Given the description of an element on the screen output the (x, y) to click on. 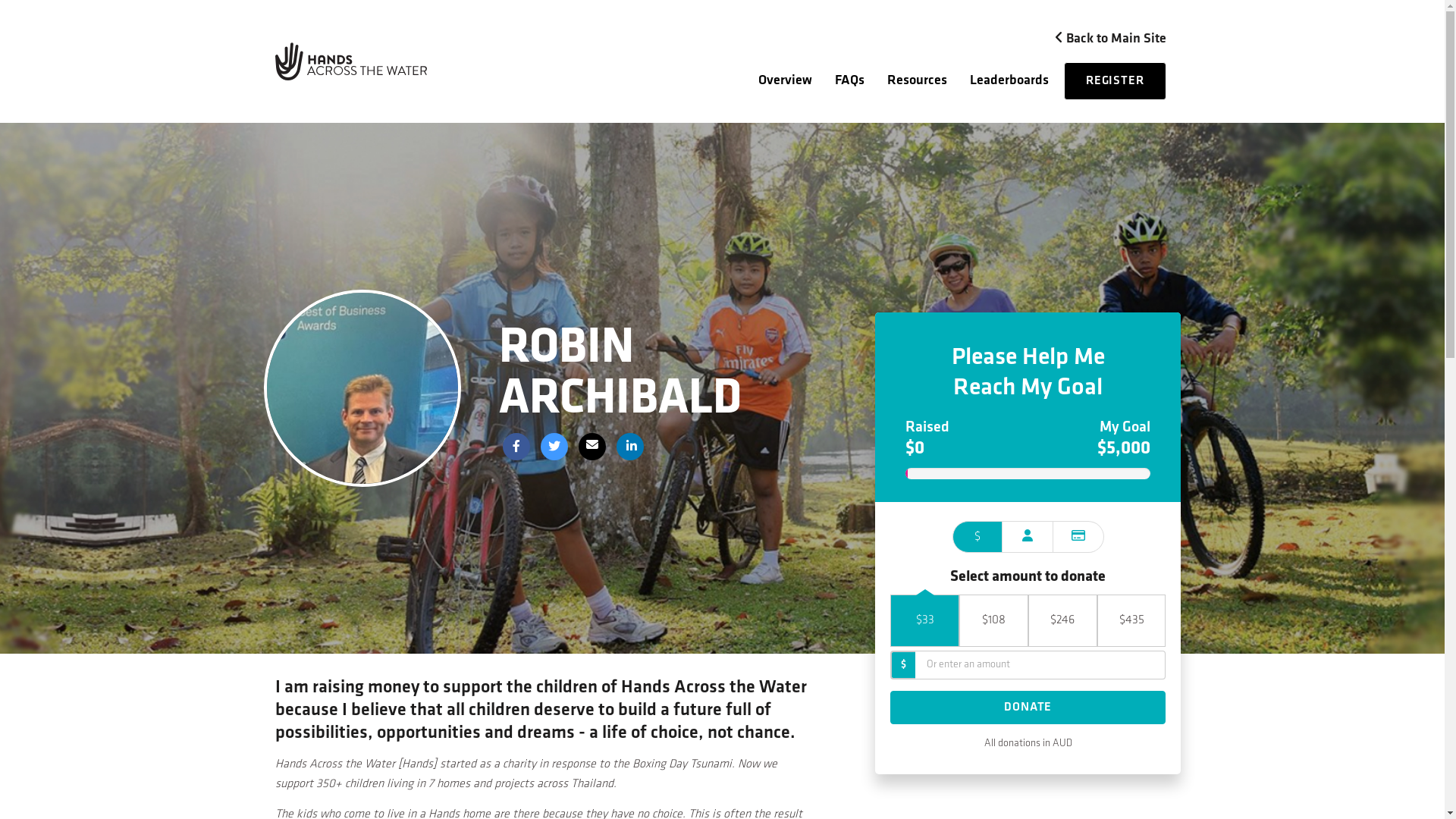
$ Element type: text (977, 536)
Resources Element type: text (916, 80)
Leaderboards Element type: text (1009, 80)
Overview Element type: text (784, 80)
$435 Element type: text (1131, 620)
Back to Main Site Element type: text (1103, 38)
$246 Element type: text (1062, 620)
$33 Element type: text (924, 620)
$108 Element type: text (993, 620)
FAQs Element type: text (849, 80)
REGISTER Element type: text (1114, 81)
DONATE Element type: text (1027, 707)
